Given the description of an element on the screen output the (x, y) to click on. 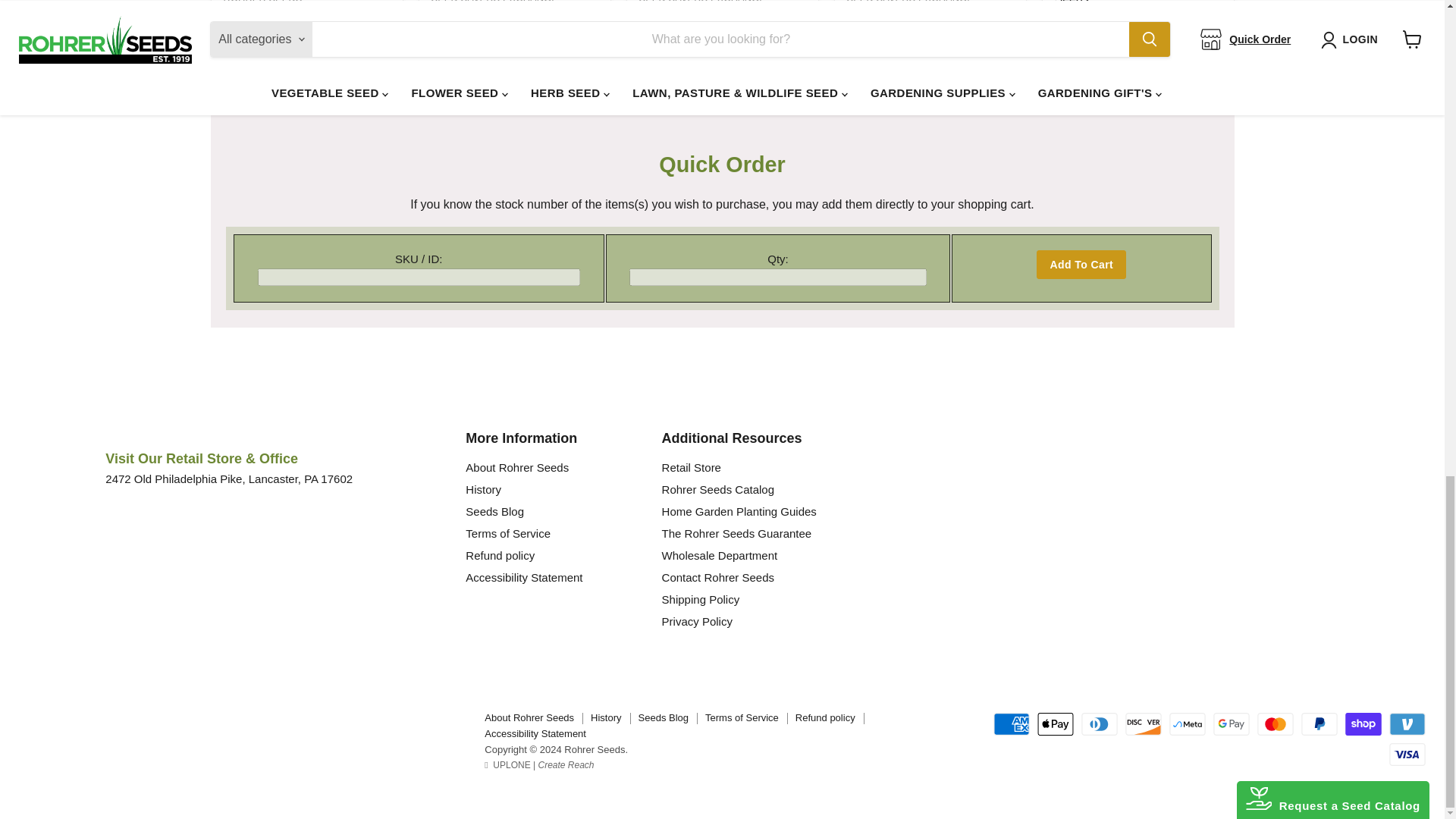
SEED SAVERS EXCHANGE (908, 2)
Google map to Rohrer Seeds (275, 607)
ROHRER SEEDS (1093, 13)
ROHRER SEEDS (261, 2)
SEED SAVERS EXCHANGE (702, 2)
SEED SAVERS EXCHANGE (493, 2)
American Express (1010, 723)
Apple Pay (1055, 723)
Discover (1143, 723)
Diners Club (1099, 723)
